Given the description of an element on the screen output the (x, y) to click on. 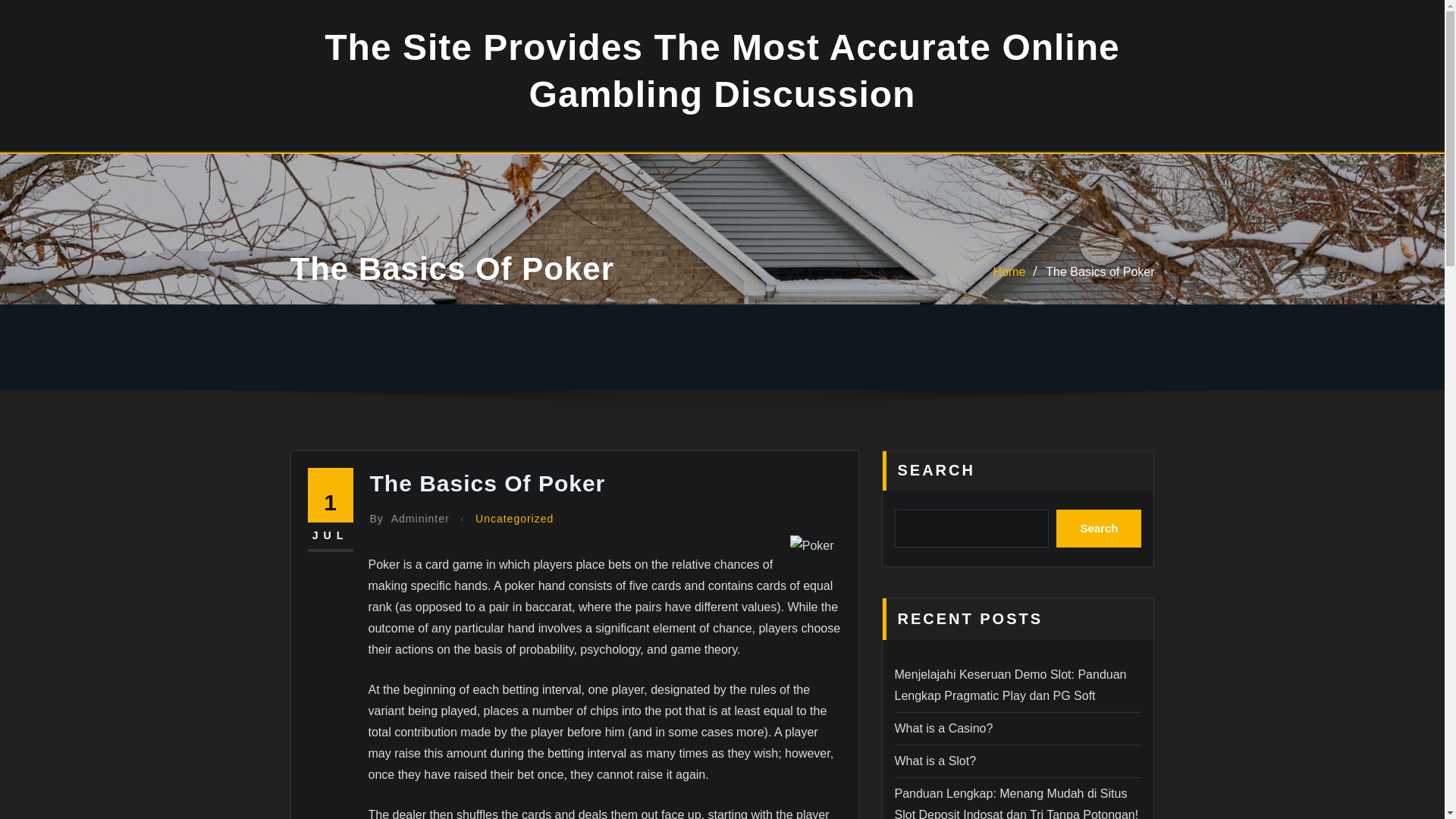
Home (1009, 271)
Search (1099, 528)
What is a Casino? (943, 727)
By Admininter (409, 518)
What is a Slot? (935, 760)
Uncategorized (514, 518)
The Basics of Poker (1099, 271)
